Given the description of an element on the screen output the (x, y) to click on. 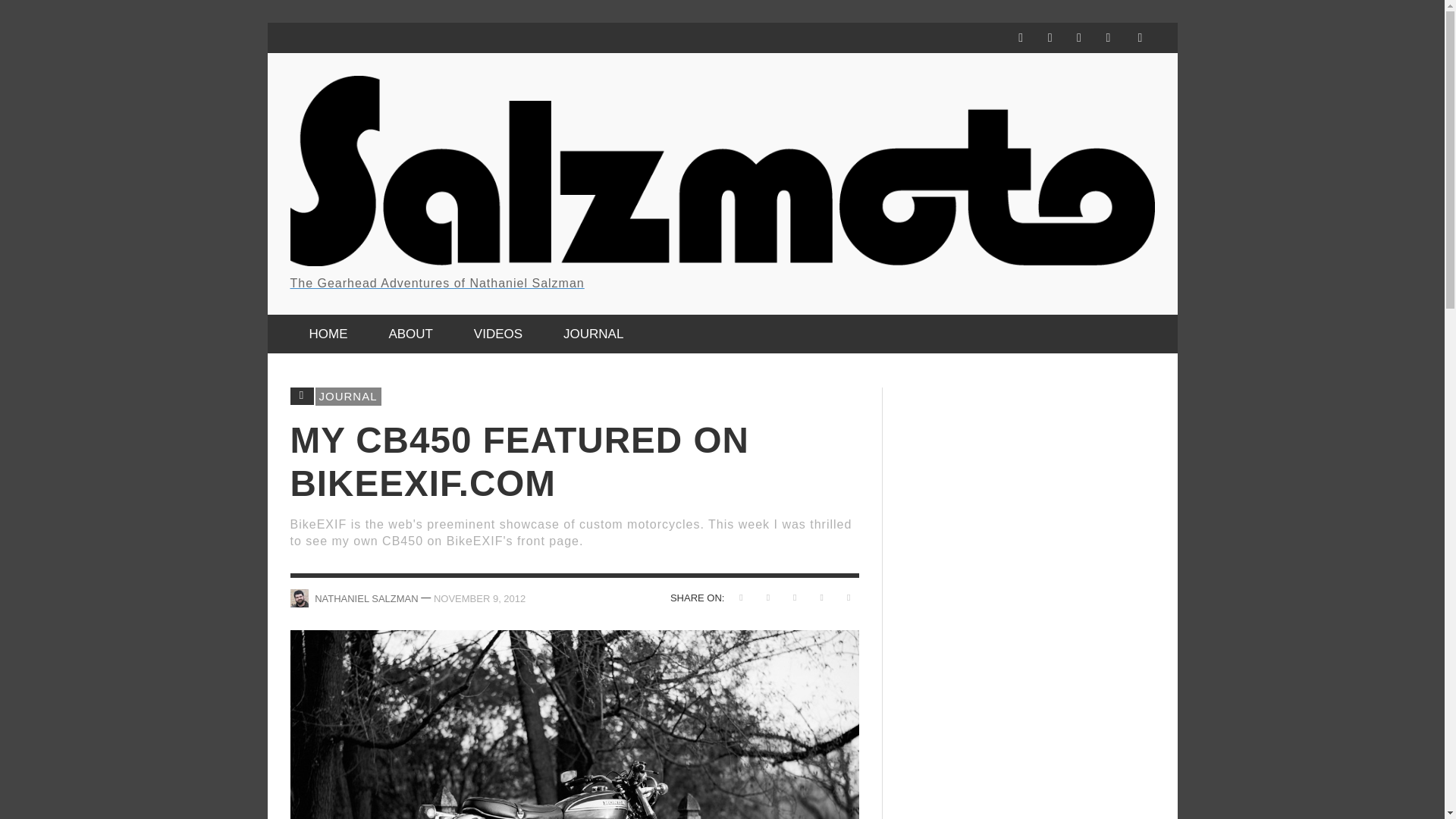
Instagram (1049, 37)
NATHANIEL SALZMAN (366, 597)
JOURNAL (348, 396)
Permalink to My CB450 featured on BikeEXIF.com (479, 597)
Twitter (1078, 37)
Share on Pinterest (794, 597)
JOURNAL (593, 333)
Share on Reddit (820, 597)
HOME (327, 333)
Youtube (1107, 37)
ABOUT (410, 333)
NOVEMBER 9, 2012 (479, 597)
Share on Twitter (768, 597)
Facebook (1020, 37)
Share on Facebook (740, 597)
